Given the description of an element on the screen output the (x, y) to click on. 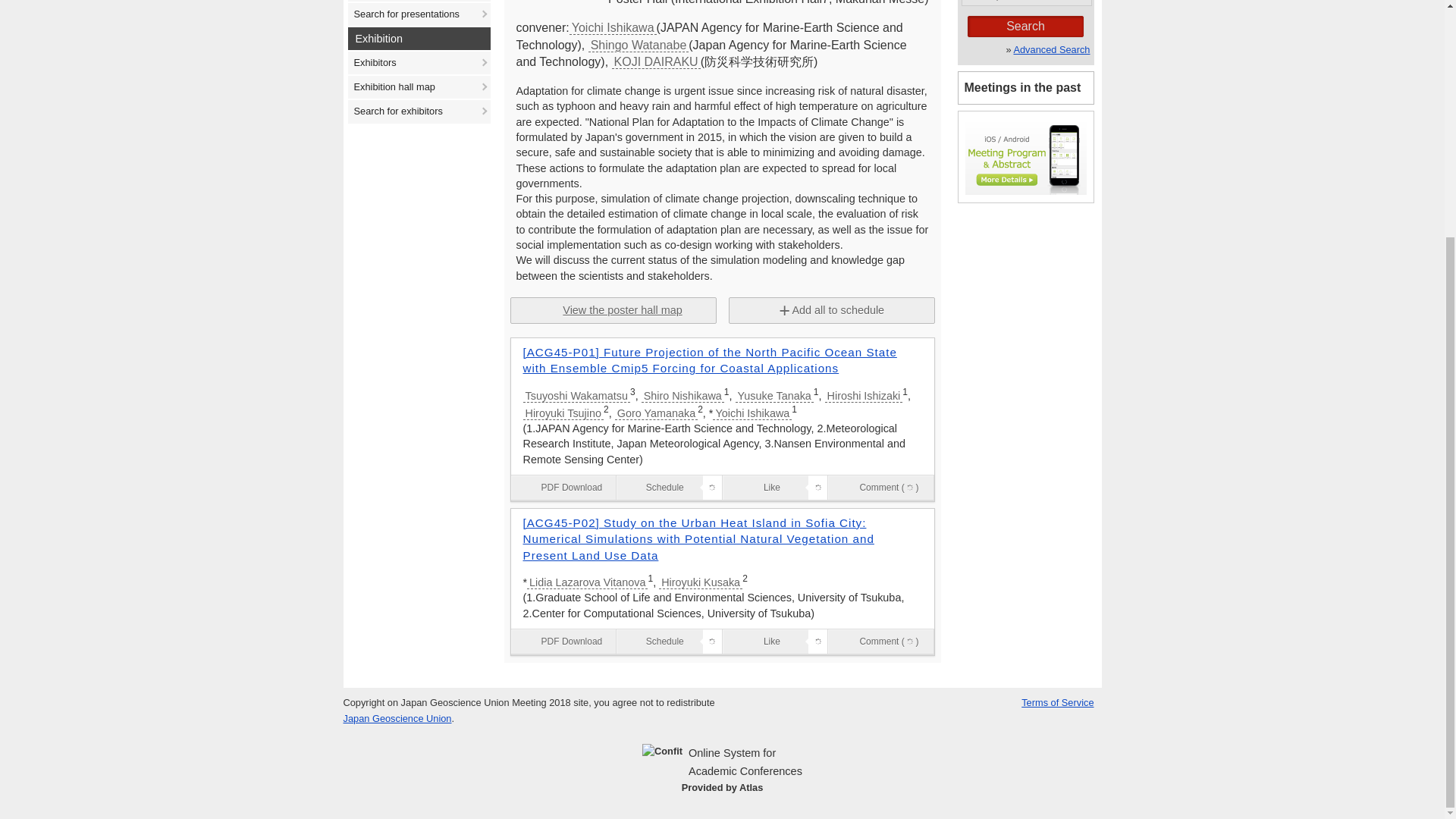
Hiroyuki Tsujino (563, 413)
Tsuyoshi Wakamatsu (576, 395)
KOJI DAIRAKU (655, 61)
Hiroshi Ishizaki (863, 395)
Others (721, 183)
Presentation title. (721, 359)
Exhibitors (418, 62)
Yoichi Ishikawa (612, 27)
Add to or remove from my schedule (668, 487)
Poster hall map (418, 0)
Comment (909, 487)
Shiro Nishikawa (682, 395)
Search for presentations (418, 14)
Shingo Watanabe (638, 44)
Search for exhibitors (418, 110)
